Given the description of an element on the screen output the (x, y) to click on. 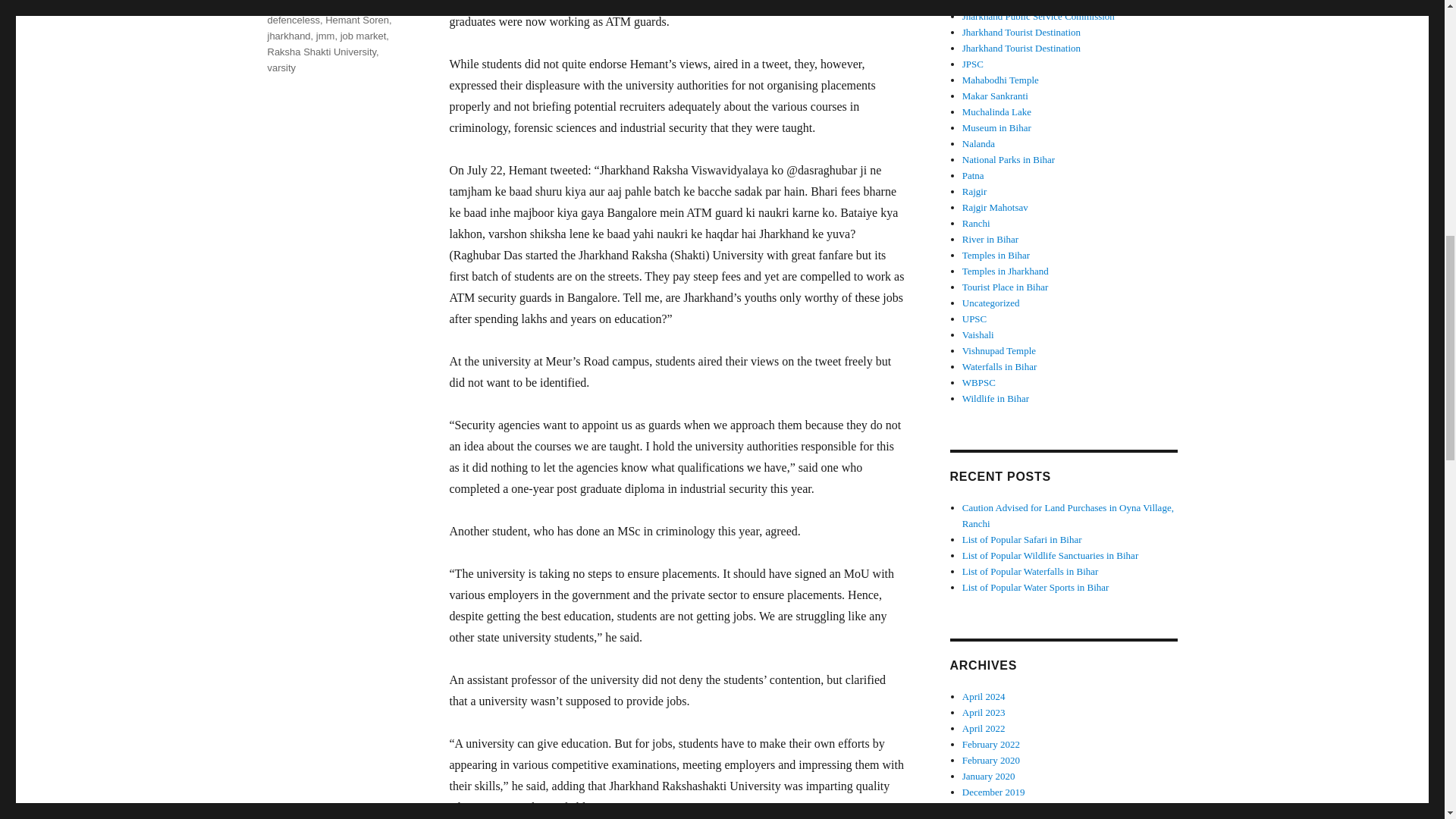
job market (363, 35)
Jharkhand (289, 2)
varsity (280, 67)
jharkhand (288, 35)
Hemant Soren (356, 19)
jmm (324, 35)
Raksha Shakti University (320, 51)
defenceless (292, 19)
